Given the description of an element on the screen output the (x, y) to click on. 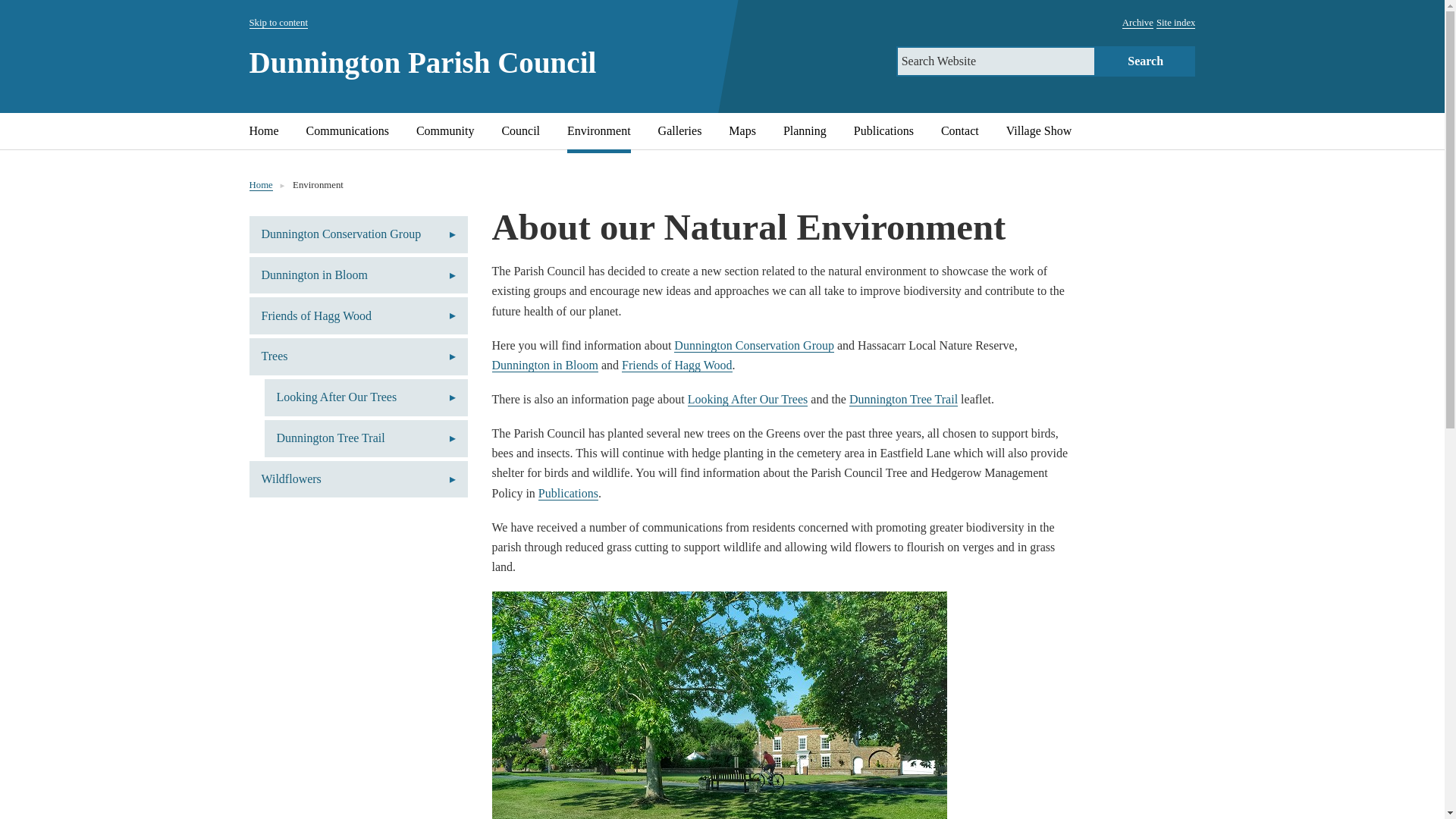
Site index (1175, 22)
Archive (1137, 22)
Search (1145, 60)
Communications (346, 131)
Green space in Dunnington (719, 705)
Search (1145, 60)
Council (520, 131)
Community (445, 131)
Skip to content (277, 22)
